Given the description of an element on the screen output the (x, y) to click on. 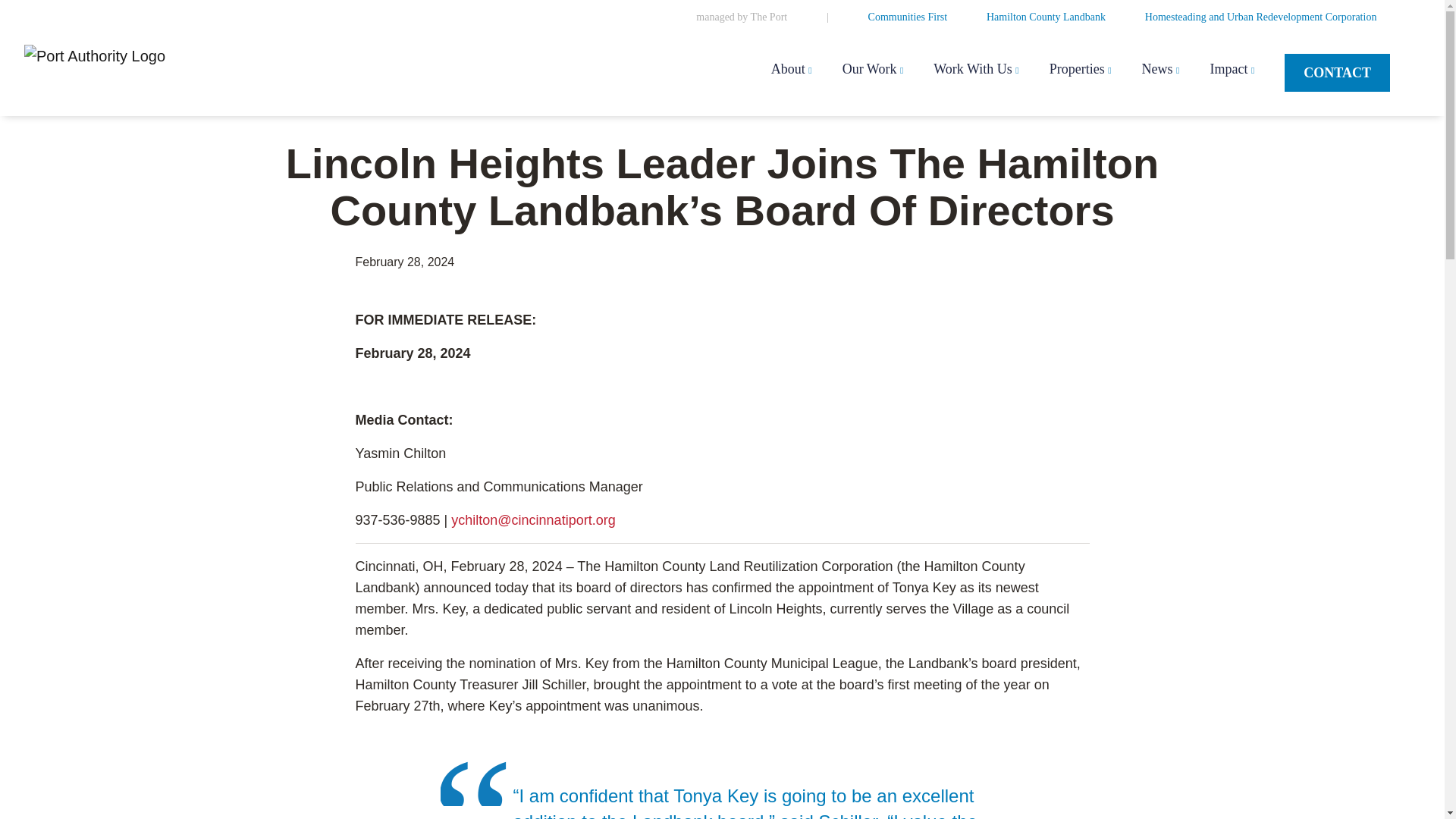
About (791, 70)
Our Work (873, 70)
Homesteading and Urban Redevelopment Corporation (1260, 16)
Hamilton County Landbank (1046, 16)
Impact (1231, 70)
Communities First (907, 16)
Work With Us (975, 70)
News (1160, 70)
Properties (1080, 70)
